Given the description of an element on the screen output the (x, y) to click on. 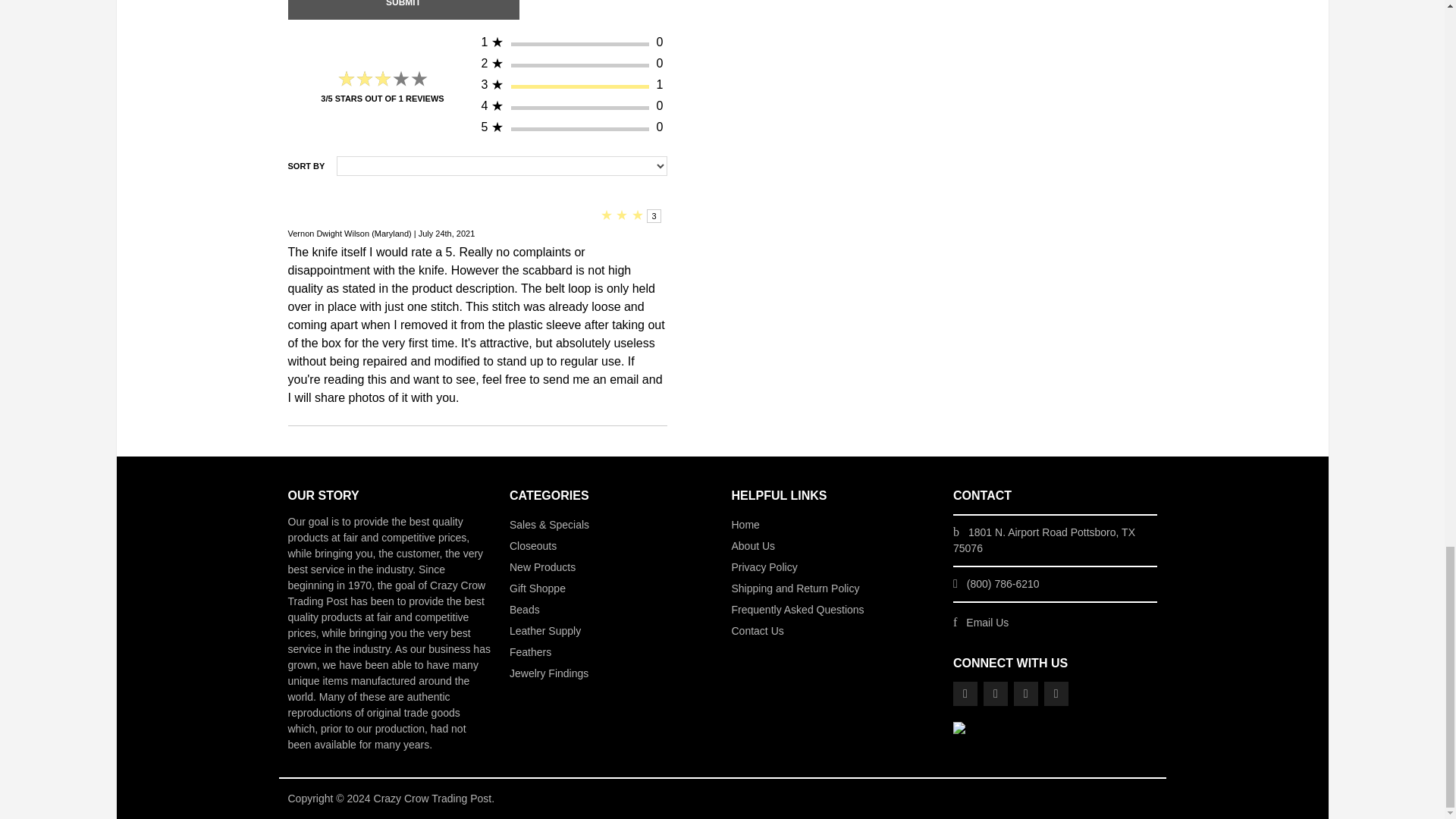
Submit (403, 9)
